Given the description of an element on the screen output the (x, y) to click on. 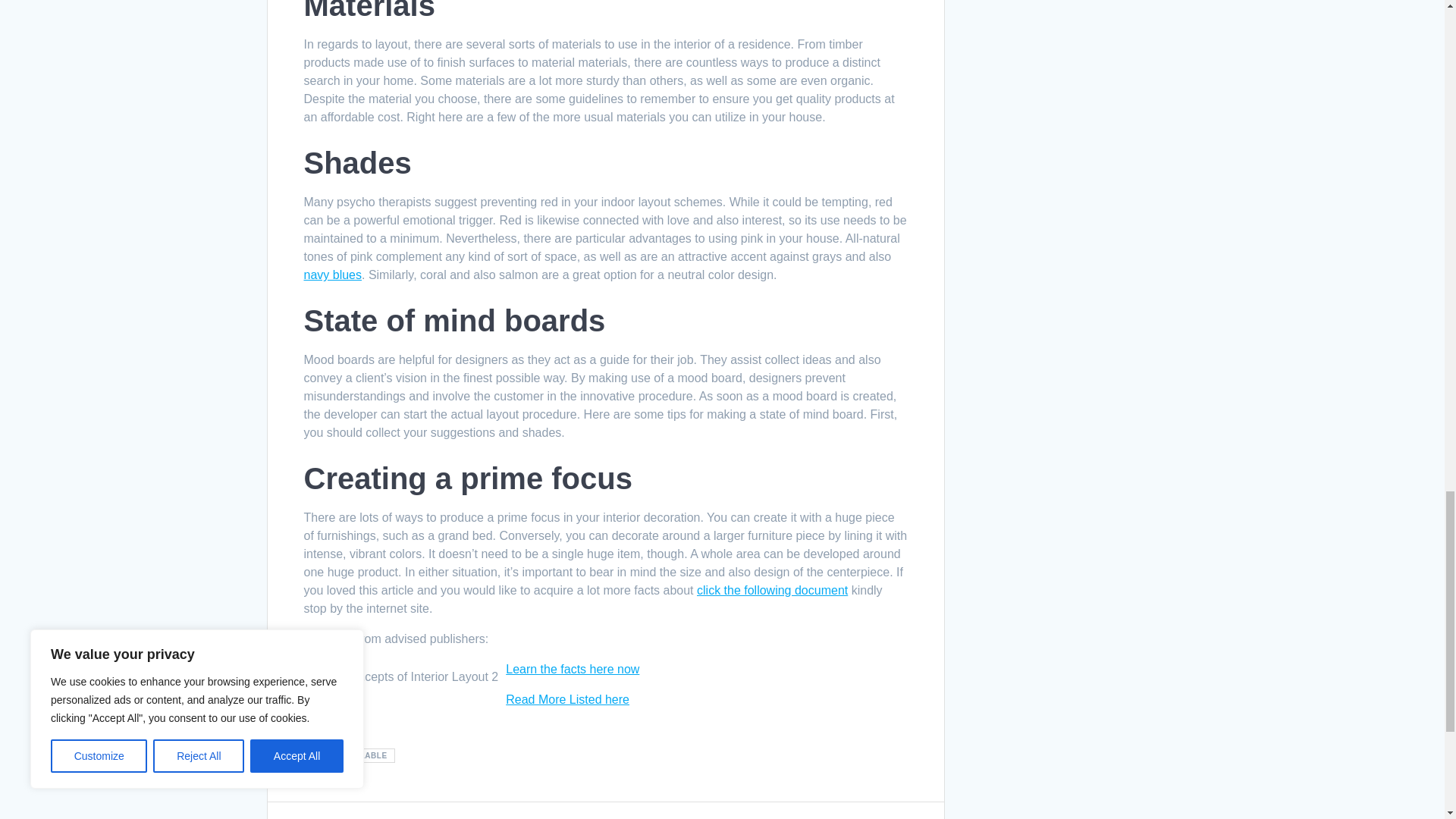
navy blues (331, 274)
Learn the facts here now (572, 668)
click the following document (772, 590)
Read More Listed here (566, 698)
